Given the description of an element on the screen output the (x, y) to click on. 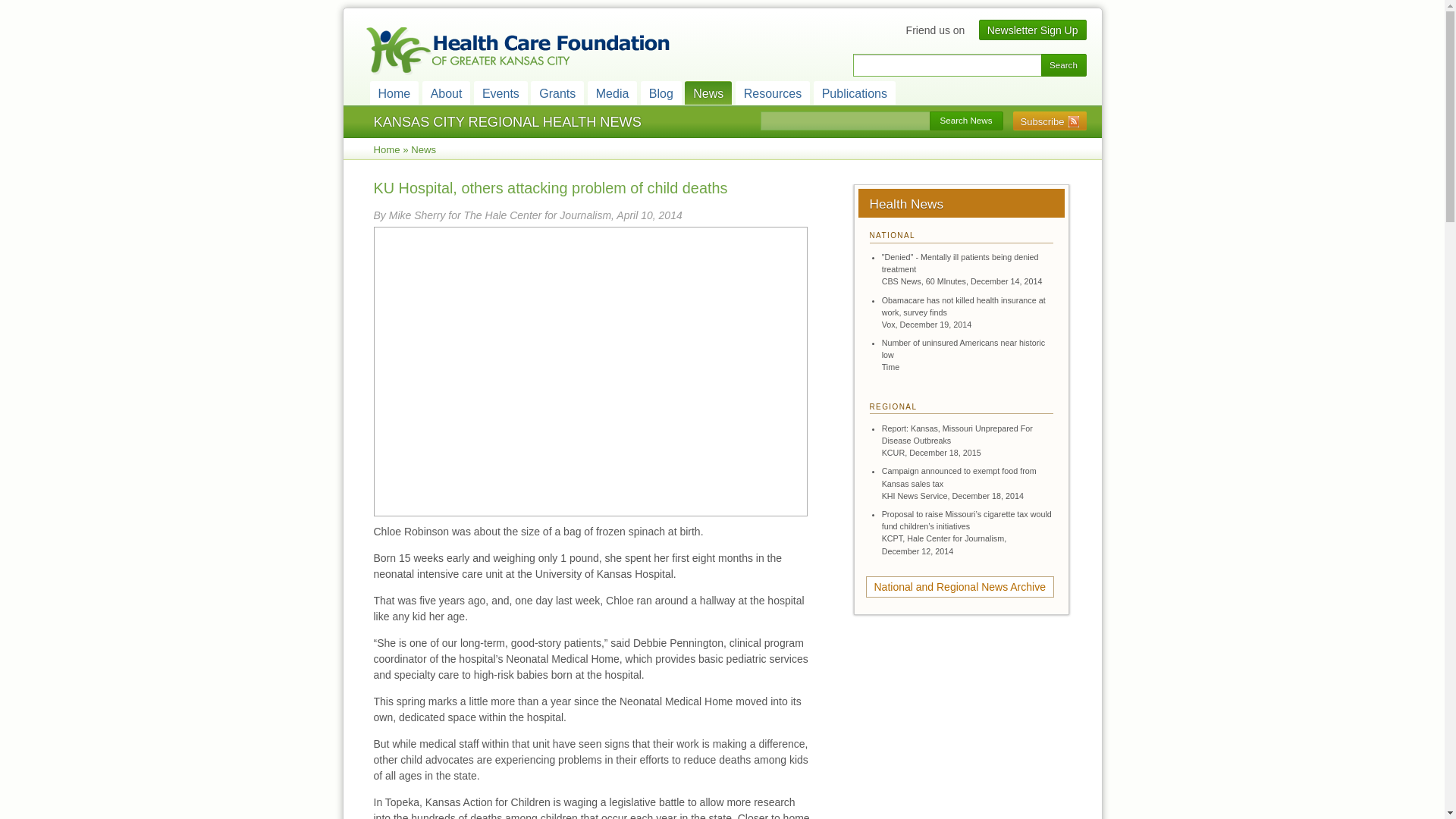
About (446, 92)
Home (394, 92)
Search (1063, 65)
Grants (557, 92)
Enter the terms you wish to search for. (946, 65)
Search (1063, 65)
health care of greater kansas city (516, 51)
Events (500, 92)
Newsletter Sign Up (1032, 30)
